Given the description of an element on the screen output the (x, y) to click on. 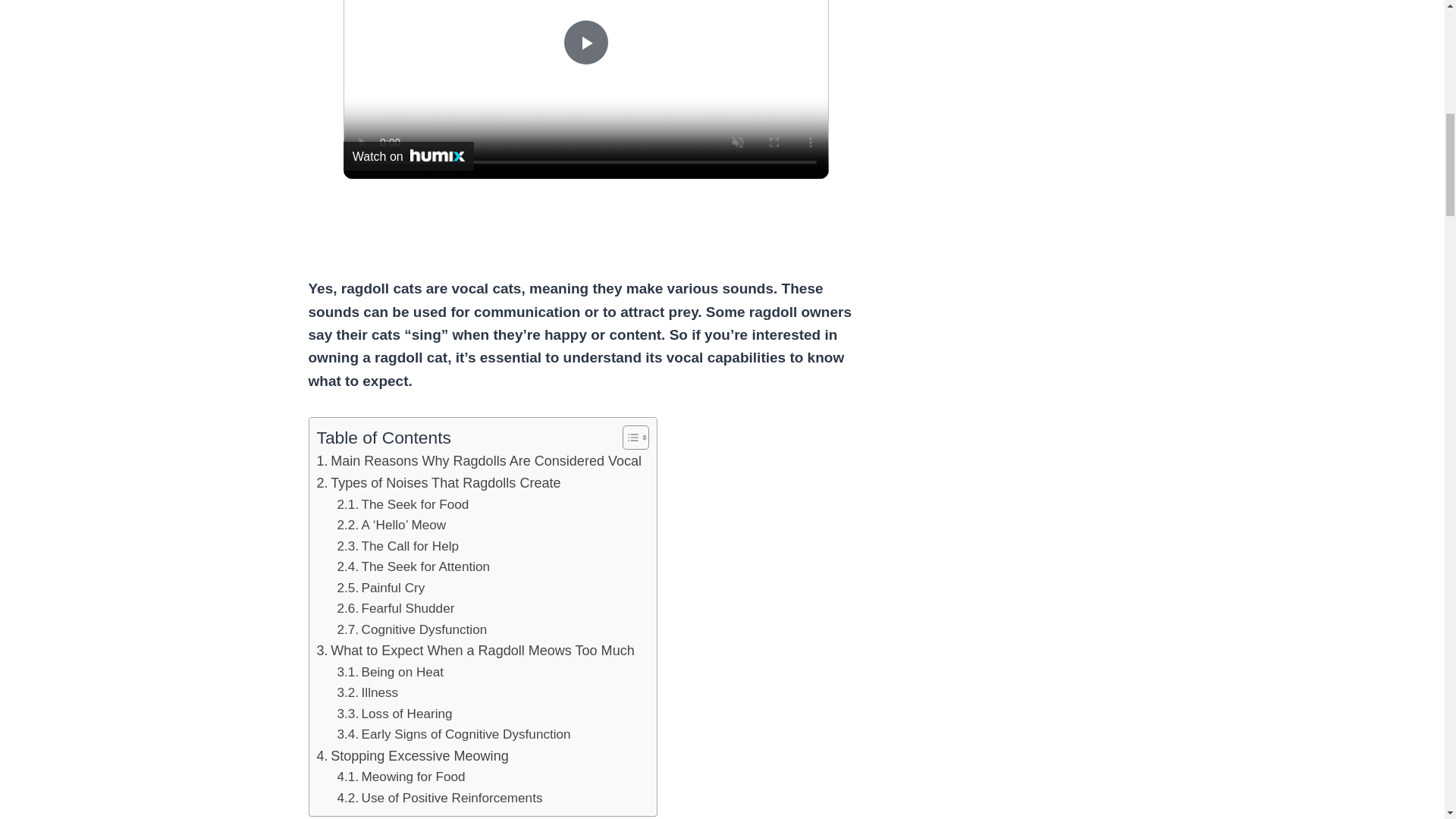
Play Video (585, 42)
Painful Cry (381, 588)
Main Reasons Why Ragdolls Are Considered Vocal (479, 461)
Types of Noises That Ragdolls Create (438, 483)
Watch on (408, 155)
What to Expect When a Ragdoll Meows Too Much (475, 650)
Cognitive Dysfunction (412, 629)
Cognitive Dysfunction (412, 629)
Fearful Shudder (395, 608)
Painful Cry (381, 588)
The Seek for Attention (413, 566)
The Seek for Food (402, 504)
Types of Noises That Ragdolls Create (438, 483)
Being on Heat (390, 671)
Fearful Shudder (395, 608)
